Given the description of an element on the screen output the (x, y) to click on. 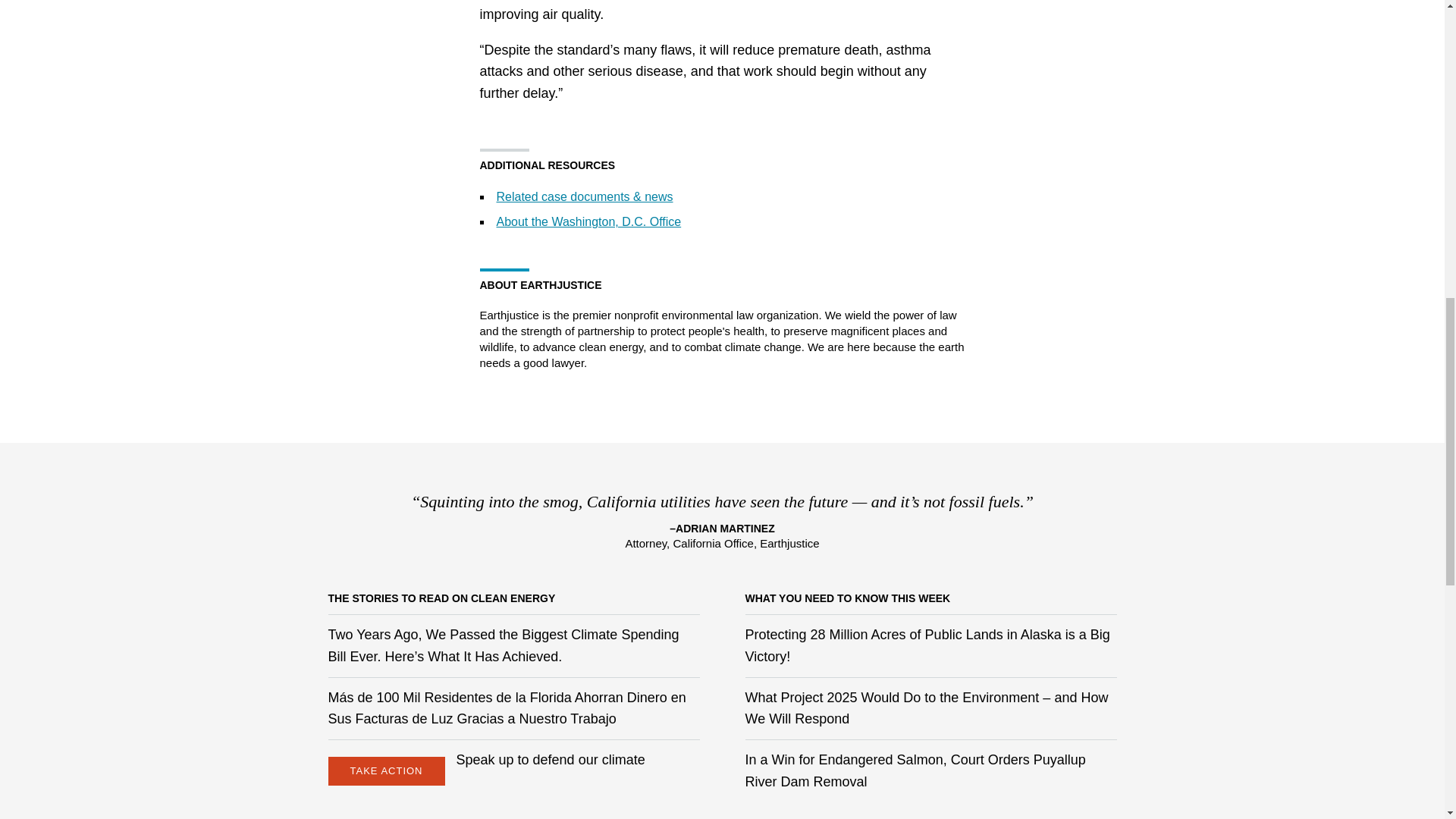
Speak up to defend our climate (551, 759)
Washington, D.C. Office (588, 221)
